Given the description of an element on the screen output the (x, y) to click on. 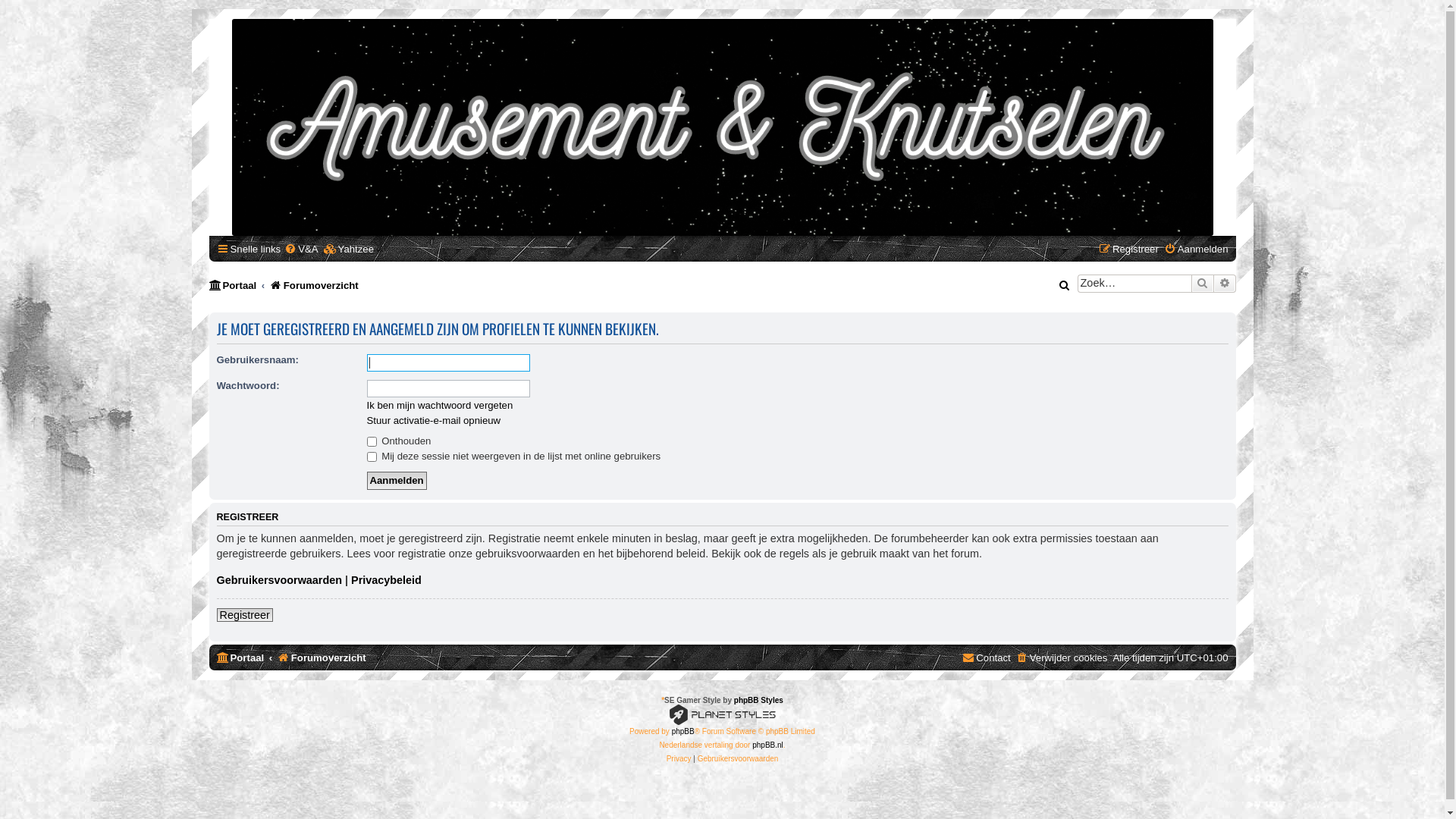
Uitgebreid zoeken Element type: text (1224, 283)
V&A Element type: text (300, 248)
Yahtzee Element type: text (348, 248)
Snelle links Element type: text (248, 248)
phpBB Styles Element type: text (758, 700)
Aanmelden Element type: text (396, 480)
Registreer Element type: text (244, 614)
Zoek Element type: text (1201, 283)
phpBB.nl Element type: text (767, 744)
Contact Element type: text (986, 657)
Zoek Element type: text (1065, 285)
Stuur activatie-e-mail opnieuw Element type: text (434, 420)
Registreer Element type: text (1128, 248)
Zoek op sleutelwoorden Element type: hover (1133, 283)
Gebruikersvoorwaarden Element type: text (279, 580)
phpBB Element type: text (682, 731)
Forumoverzicht Element type: text (313, 285)
Privacy Element type: text (679, 758)
Verwijder cookies Element type: text (1061, 657)
Portaal Element type: text (240, 657)
Forumoverzicht Element type: text (321, 657)
Privacybeleid Element type: text (386, 580)
Portaal Element type: text (233, 285)
Aanmelden Element type: text (1196, 248)
Gebruikersvoorwaarden Element type: text (737, 758)
Ik ben mijn wachtwoord vergeten Element type: text (440, 405)
Forumoverzicht Element type: hover (722, 126)
